Given the description of an element on the screen output the (x, y) to click on. 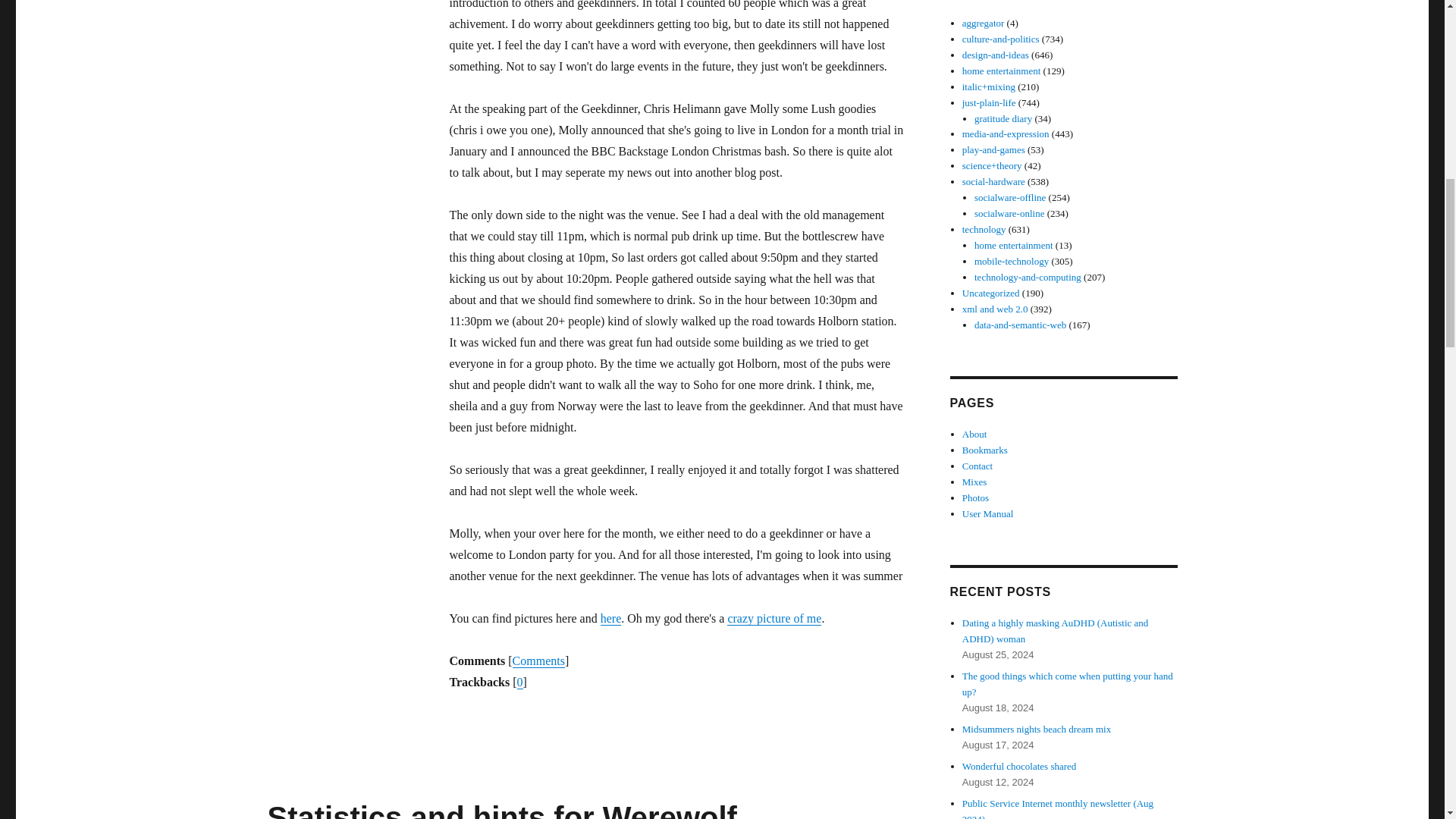
Comments (538, 660)
crazy picture of me (773, 617)
here (610, 617)
Statistics and hints for Werewolf (501, 809)
